Given the description of an element on the screen output the (x, y) to click on. 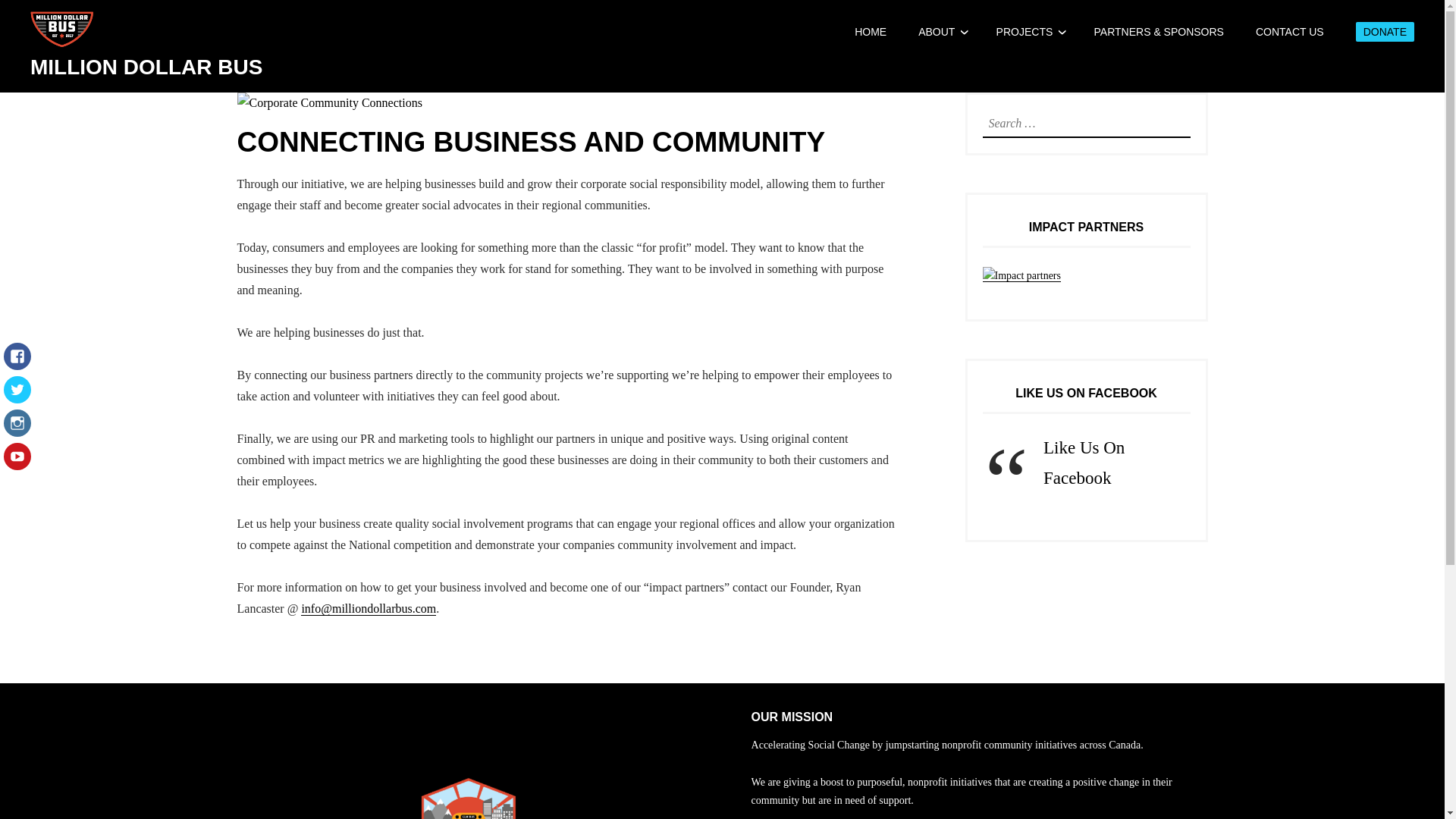
Instagram (17, 430)
LIKE US ON FACEBOOK (1085, 392)
HOME (870, 31)
YouTube (17, 463)
MILLION DOLLAR BUS (146, 66)
ABOUT (936, 31)
CONTACT US (1289, 31)
DONATE (1384, 31)
PROJECTS (1023, 31)
Facebook (17, 363)
